Given the description of an element on the screen output the (x, y) to click on. 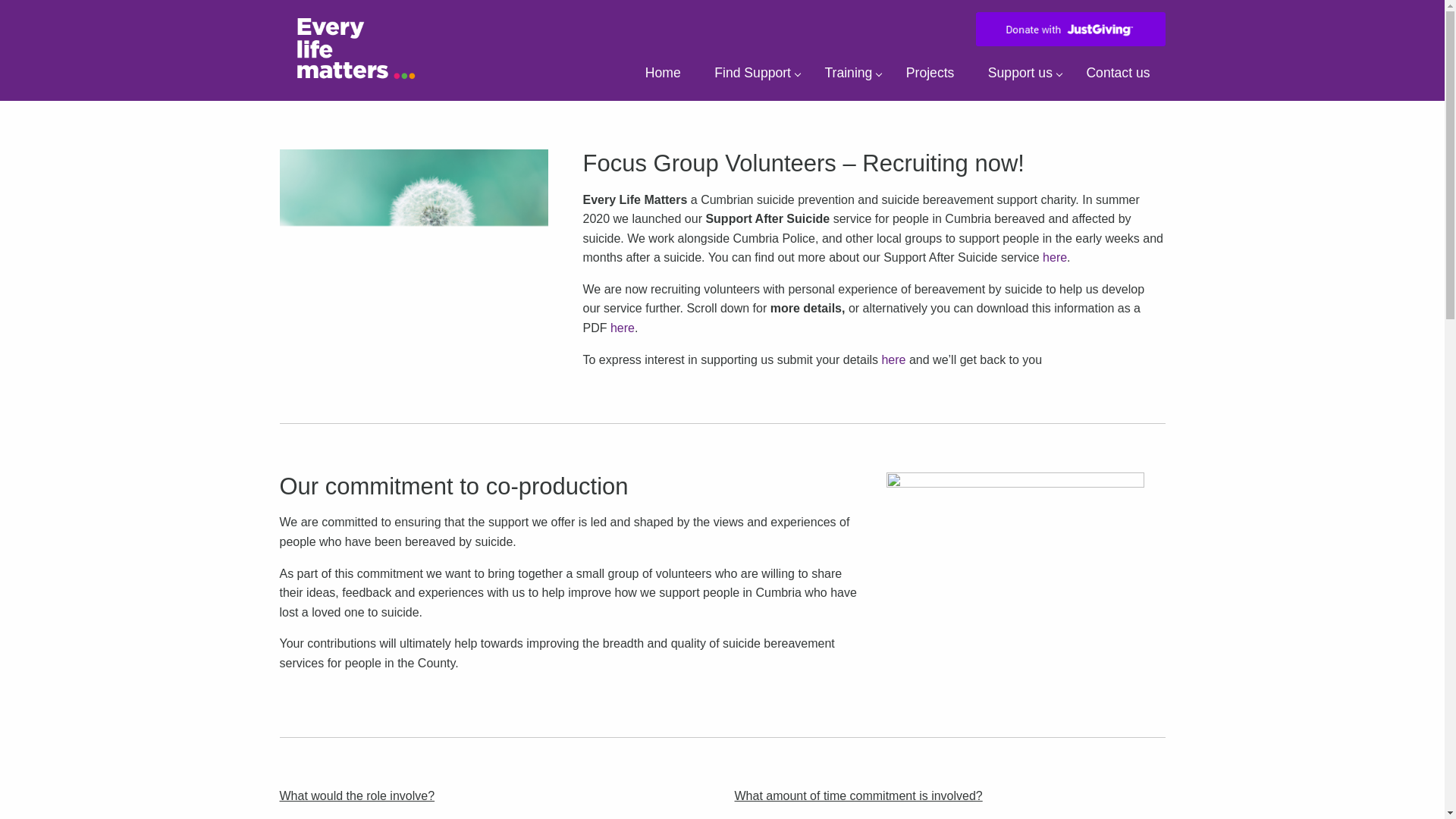
Contact us (1118, 76)
Training (848, 76)
Find Support (752, 76)
here (1054, 256)
Projects (930, 76)
here (892, 359)
here (622, 327)
Home (663, 76)
Support us (1020, 76)
